Given the description of an element on the screen output the (x, y) to click on. 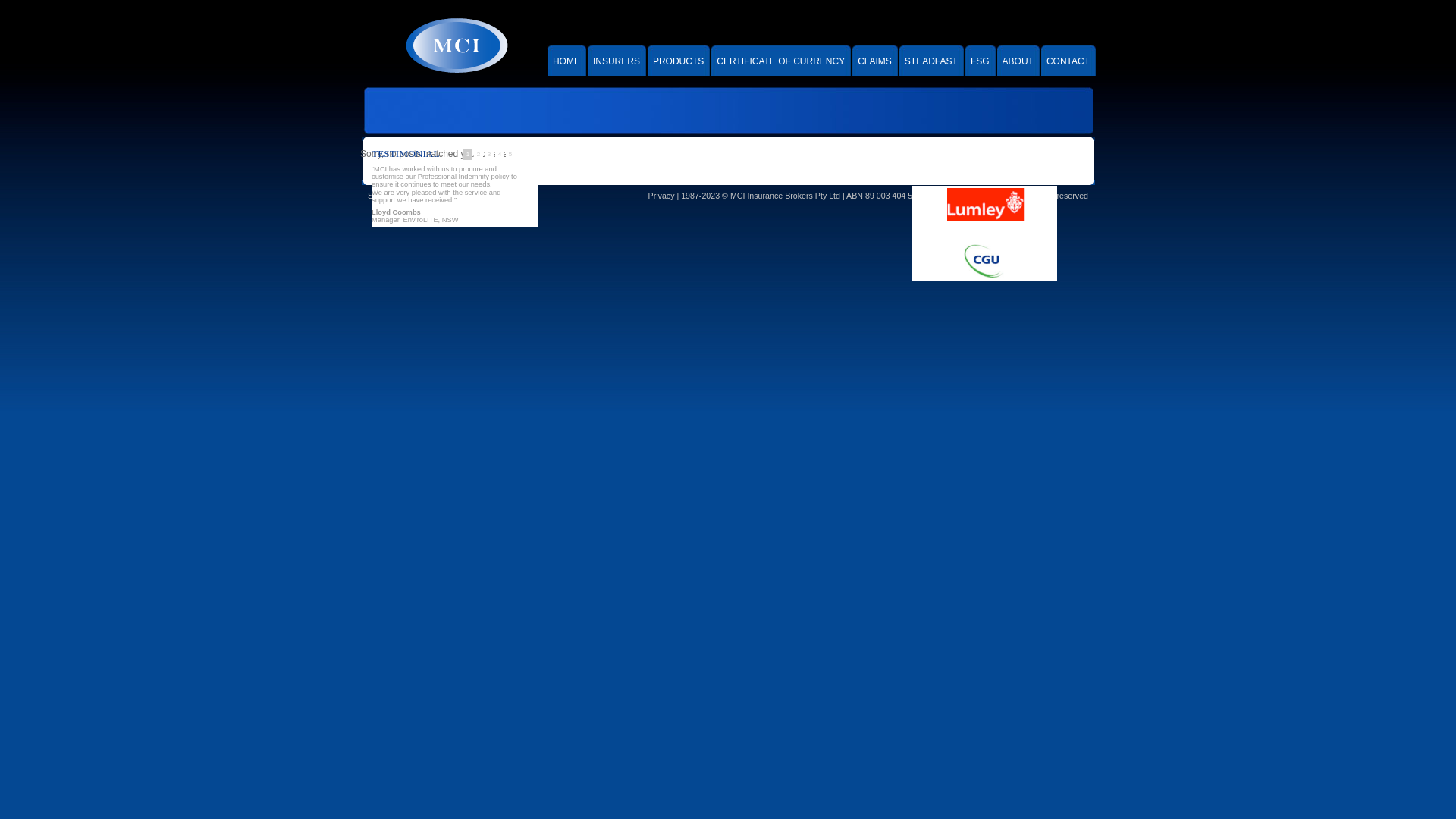
2 Element type: text (478, 154)
5 Element type: text (509, 154)
FSG Element type: text (979, 58)
1 Element type: text (467, 154)
CONTACT Element type: text (1067, 58)
Privacy Element type: text (661, 195)
MCI Insurance Brokers Element type: text (455, 45)
4 Element type: text (499, 154)
ABOUT Element type: text (1017, 58)
INSURERS Element type: text (616, 58)
Senggrafik Element type: text (414, 195)
3 Element type: text (488, 154)
CLAIMS Element type: text (874, 58)
HOME Element type: text (566, 58)
CERTIFICATE OF CURRENCY Element type: text (780, 58)
STEADFAST Element type: text (930, 58)
PRODUCTS Element type: text (677, 58)
